Given the description of an element on the screen output the (x, y) to click on. 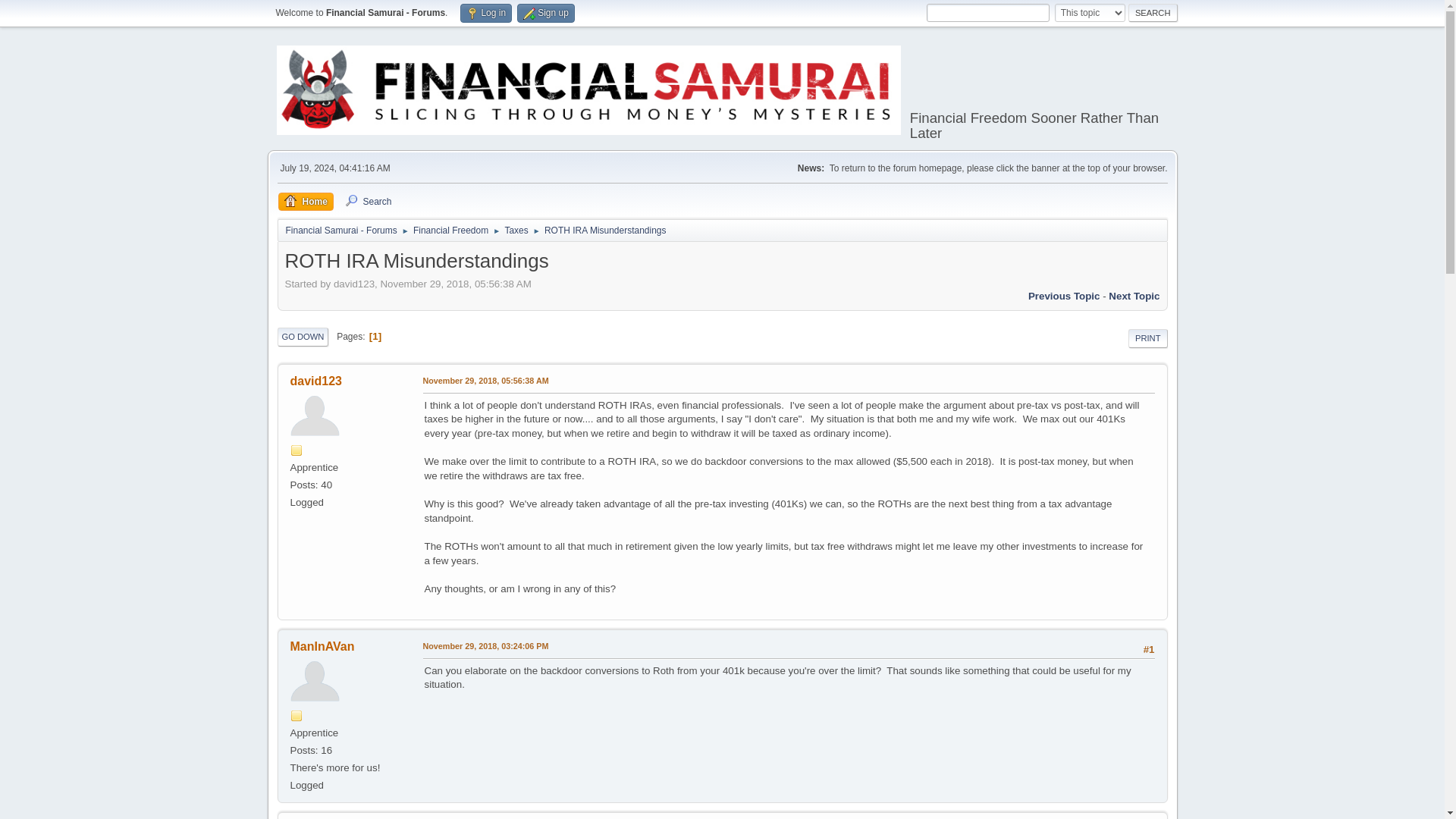
Next Topic (1133, 296)
View the profile of ManInAVan (321, 645)
View the profile of david123 (314, 380)
November 29, 2018, 03:24:06 PM (485, 646)
Search (367, 201)
Previous Topic (1063, 296)
Taxes (515, 228)
ROTH IRA Misunderstandings (485, 381)
November 29, 2018, 05:56:38 AM (485, 381)
Home (305, 201)
Financial Freedom (450, 228)
david123 (314, 380)
Financial Samurai - Forums (340, 228)
GO DOWN (303, 336)
ManInAVan (321, 645)
